Given the description of an element on the screen output the (x, y) to click on. 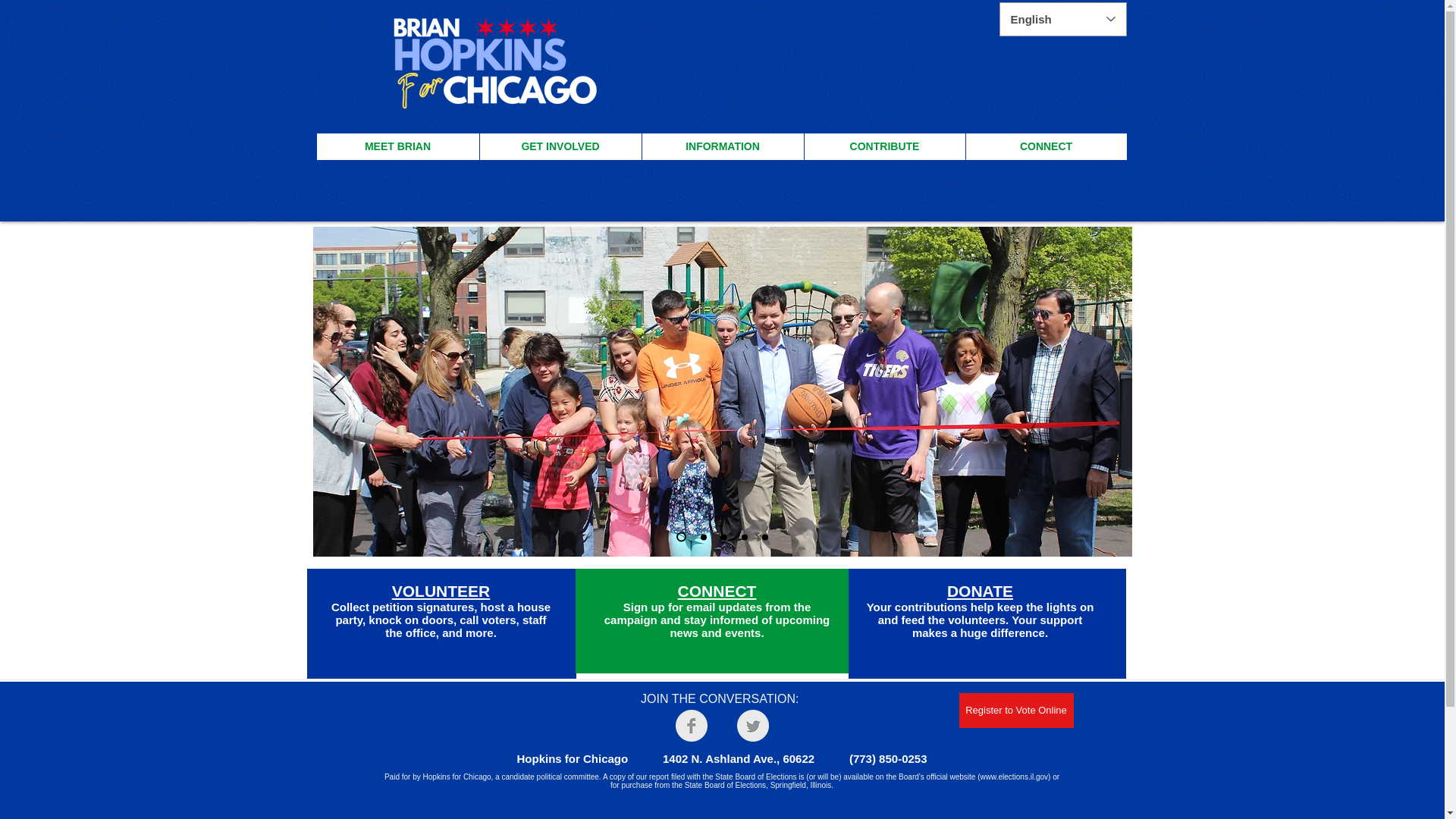
CONTRIBUTE (884, 146)
Register to Vote Online (1015, 710)
VOLUNTEER (440, 590)
CONNECT (717, 590)
www.elections.il.gov (1013, 777)
DONATE (980, 590)
GET INVOLVED (560, 146)
